Given the description of an element on the screen output the (x, y) to click on. 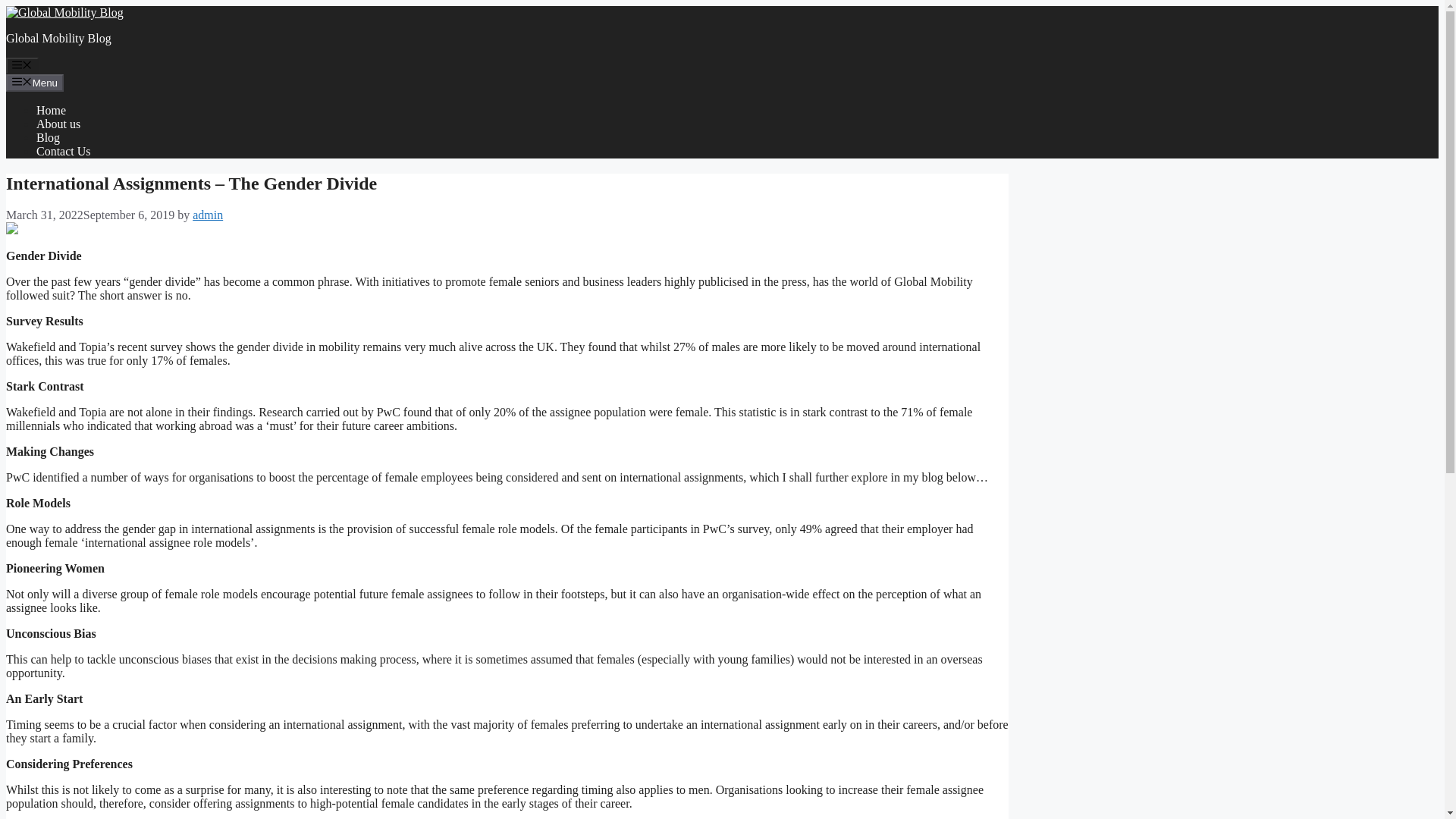
Menu (22, 65)
Home (50, 110)
Blog (47, 137)
Menu (34, 82)
Global Mobility Blog (64, 12)
Global Mobility Blog (58, 38)
View all posts by admin (207, 214)
Contact Us (63, 151)
